Given the description of an element on the screen output the (x, y) to click on. 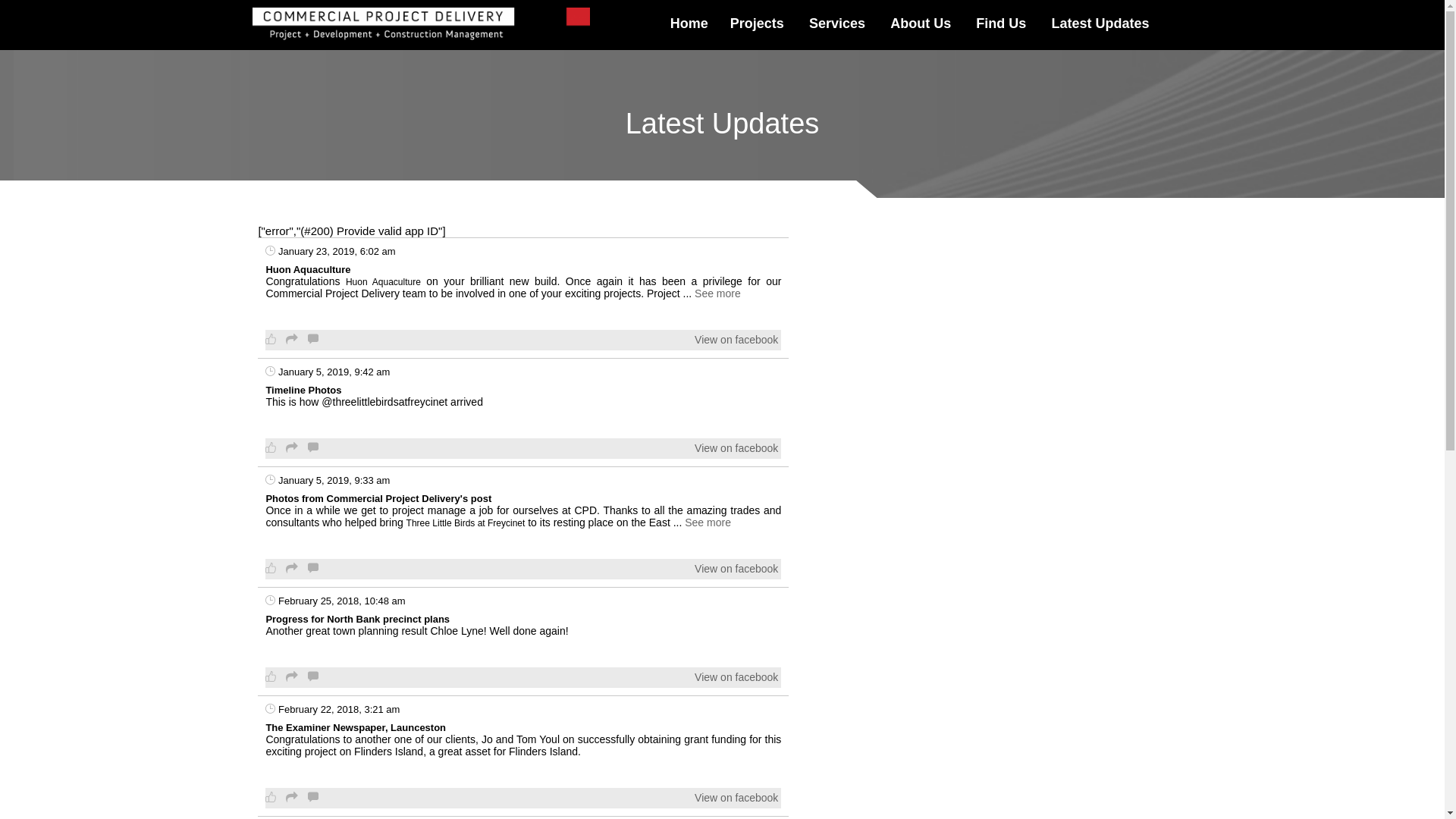
Progress for North Bank precinct plans Element type: text (357, 618)
Photos from Commercial Project Delivery's post Element type: text (378, 498)
View on facebook Element type: text (736, 568)
Commercial Project Delivery Element type: hover (420, 24)
About Us Element type: text (920, 23)
Huon Aquaculture Element type: text (307, 269)
Find Us Element type: text (1000, 23)
Projects Element type: text (757, 23)
See more Element type: text (707, 522)
View on facebook Element type: text (736, 676)
See more Element type: text (717, 293)
View on facebook Element type: text (736, 447)
The Examiner Newspaper, Launceston Element type: text (355, 727)
Services Element type: text (837, 23)
View on facebook Element type: text (736, 339)
Huon Aquaculture Element type: text (382, 281)
Latest Updates Element type: text (1100, 23)
View on facebook Element type: text (736, 797)
Three Little Birds at Freycinet Element type: text (465, 522)
Home Element type: text (689, 23)
Timeline Photos Element type: text (303, 389)
